Given the description of an element on the screen output the (x, y) to click on. 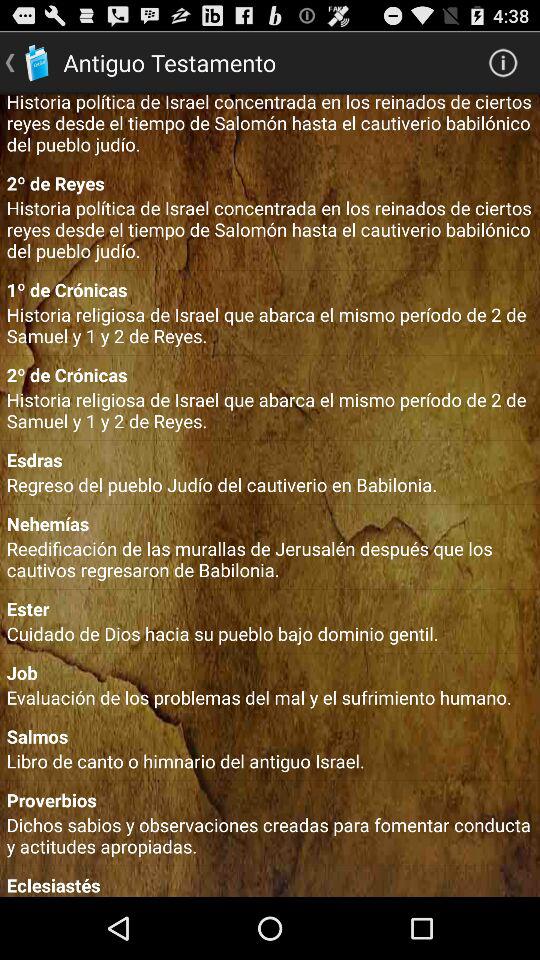
launch the ester (269, 608)
